Given the description of an element on the screen output the (x, y) to click on. 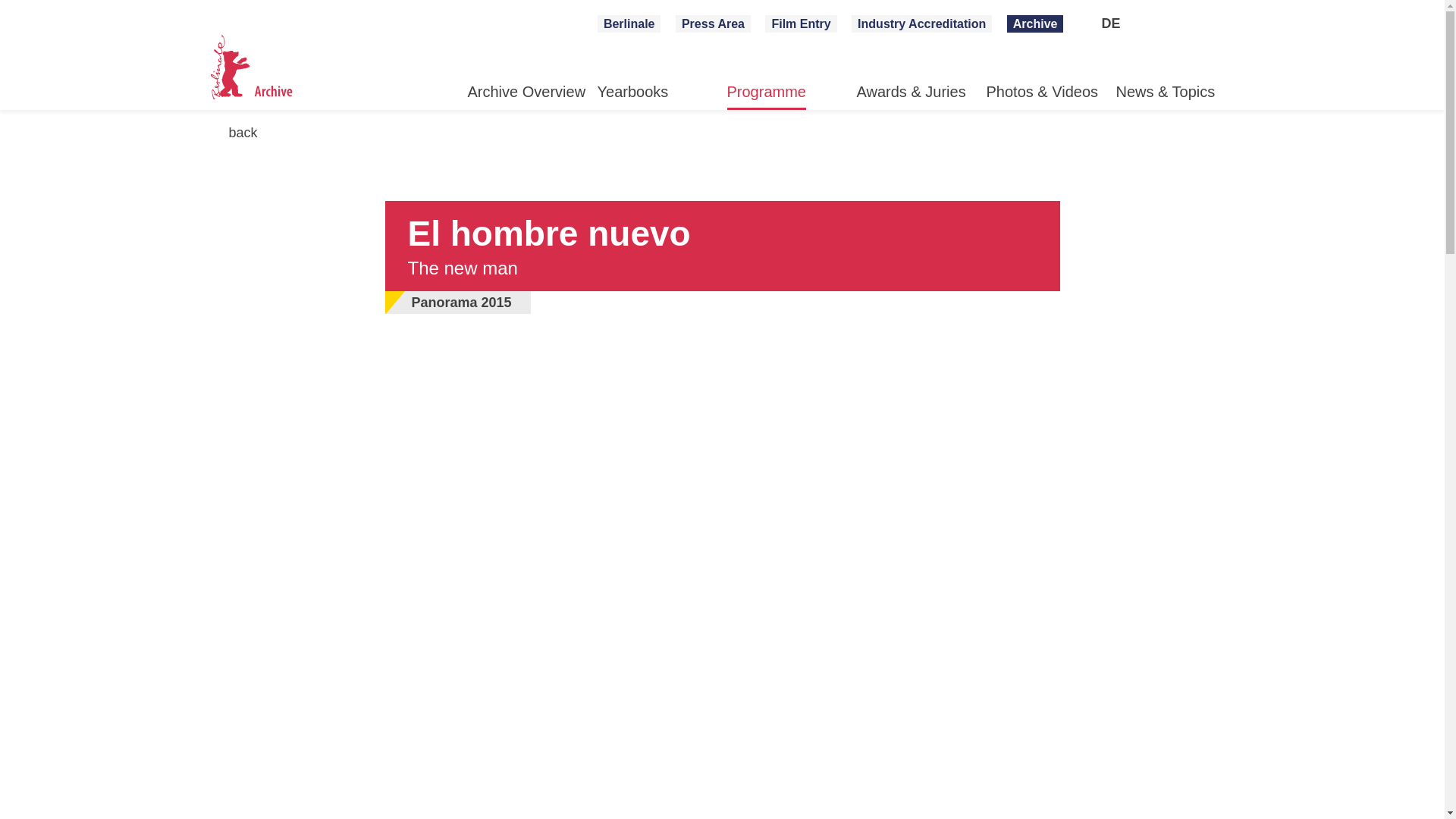
Archive (1035, 23)
Film Entry (800, 23)
Archive Overview (526, 95)
Home (261, 71)
DE (1110, 23)
Press Area (713, 23)
Film Entry (800, 23)
Login (1167, 23)
Berlinale (628, 23)
Berlinale (628, 23)
